Given the description of an element on the screen output the (x, y) to click on. 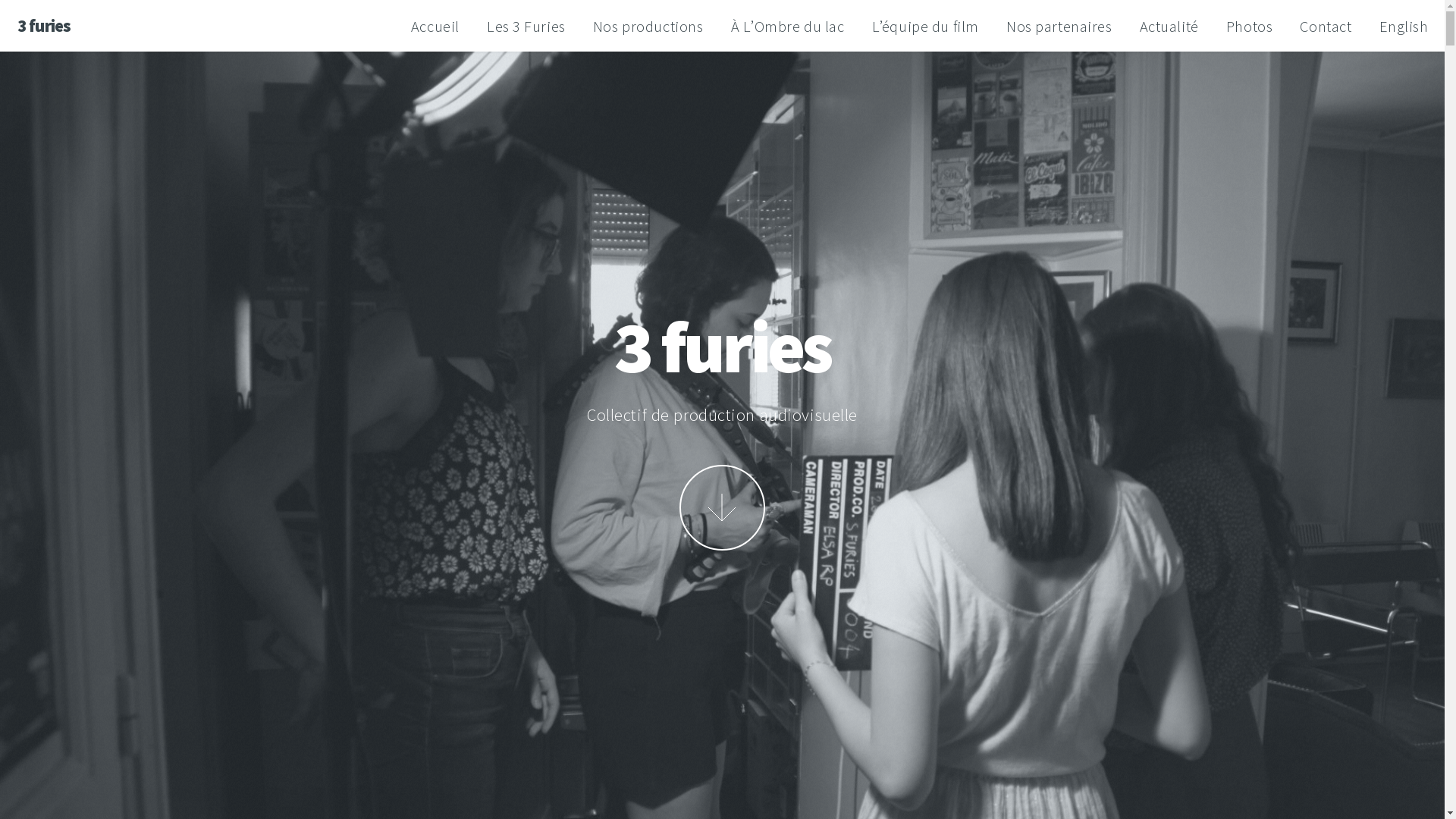
Photos Element type: text (1249, 26)
Nos productions Element type: text (648, 26)
Nos partenaires Element type: text (1059, 26)
English Element type: text (1403, 26)
Contact Element type: text (1325, 26)
Accueil Element type: text (435, 26)
Suite Element type: text (722, 507)
Les 3 Furies Element type: text (526, 26)
